Given the description of an element on the screen output the (x, y) to click on. 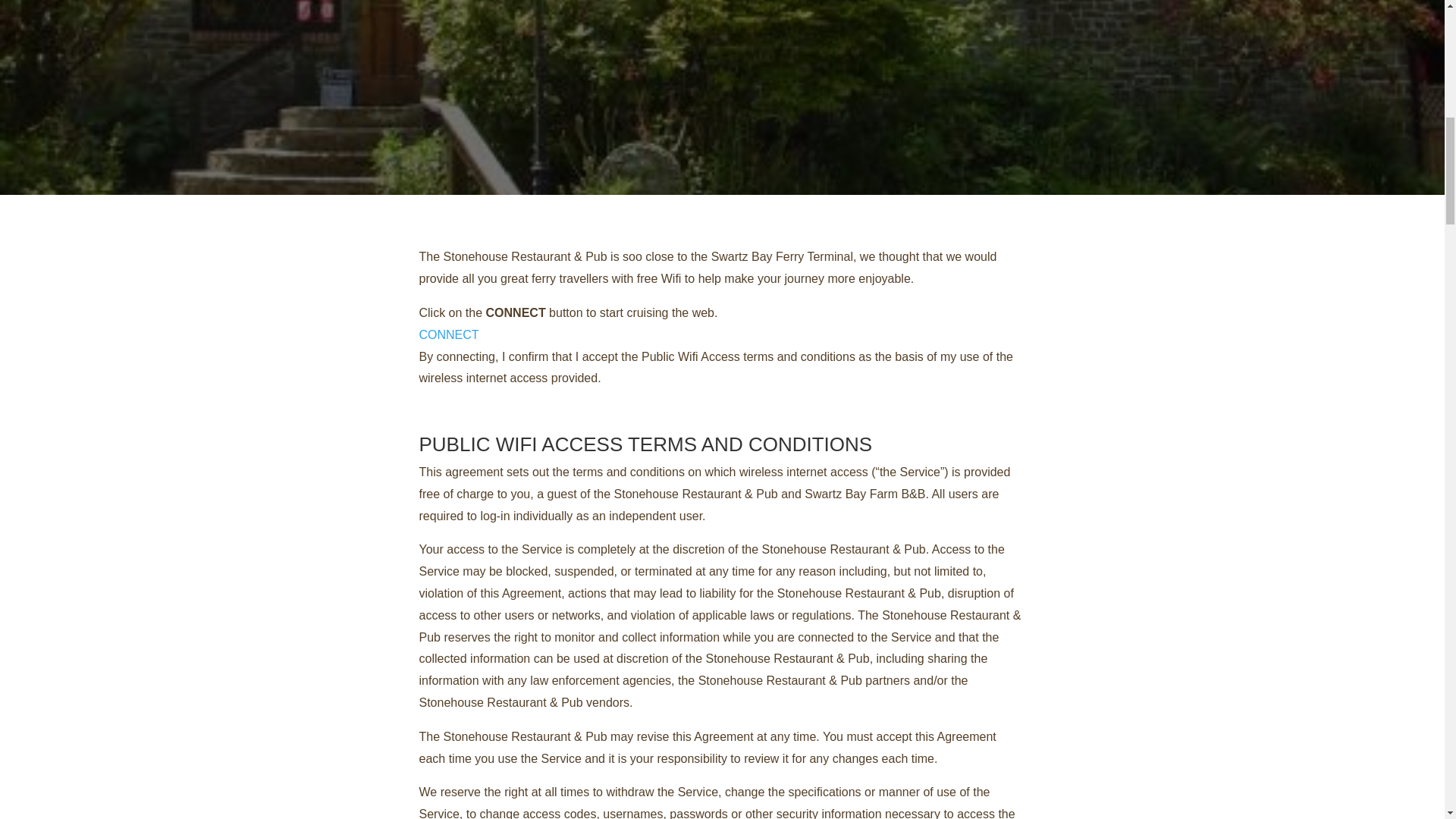
CONNECT (449, 334)
